Given the description of an element on the screen output the (x, y) to click on. 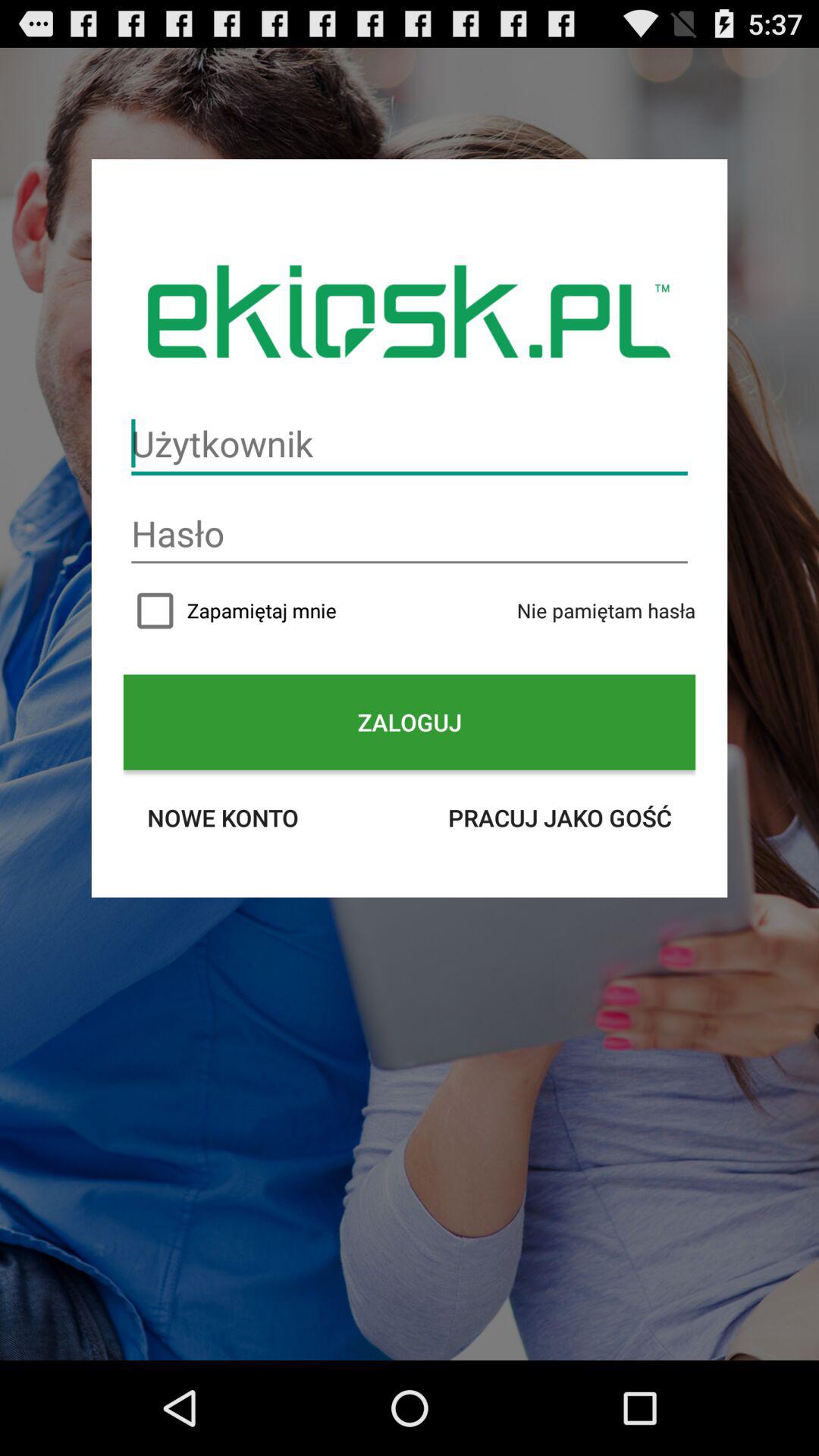
choose item next to the nowe konto button (559, 817)
